Given the description of an element on the screen output the (x, y) to click on. 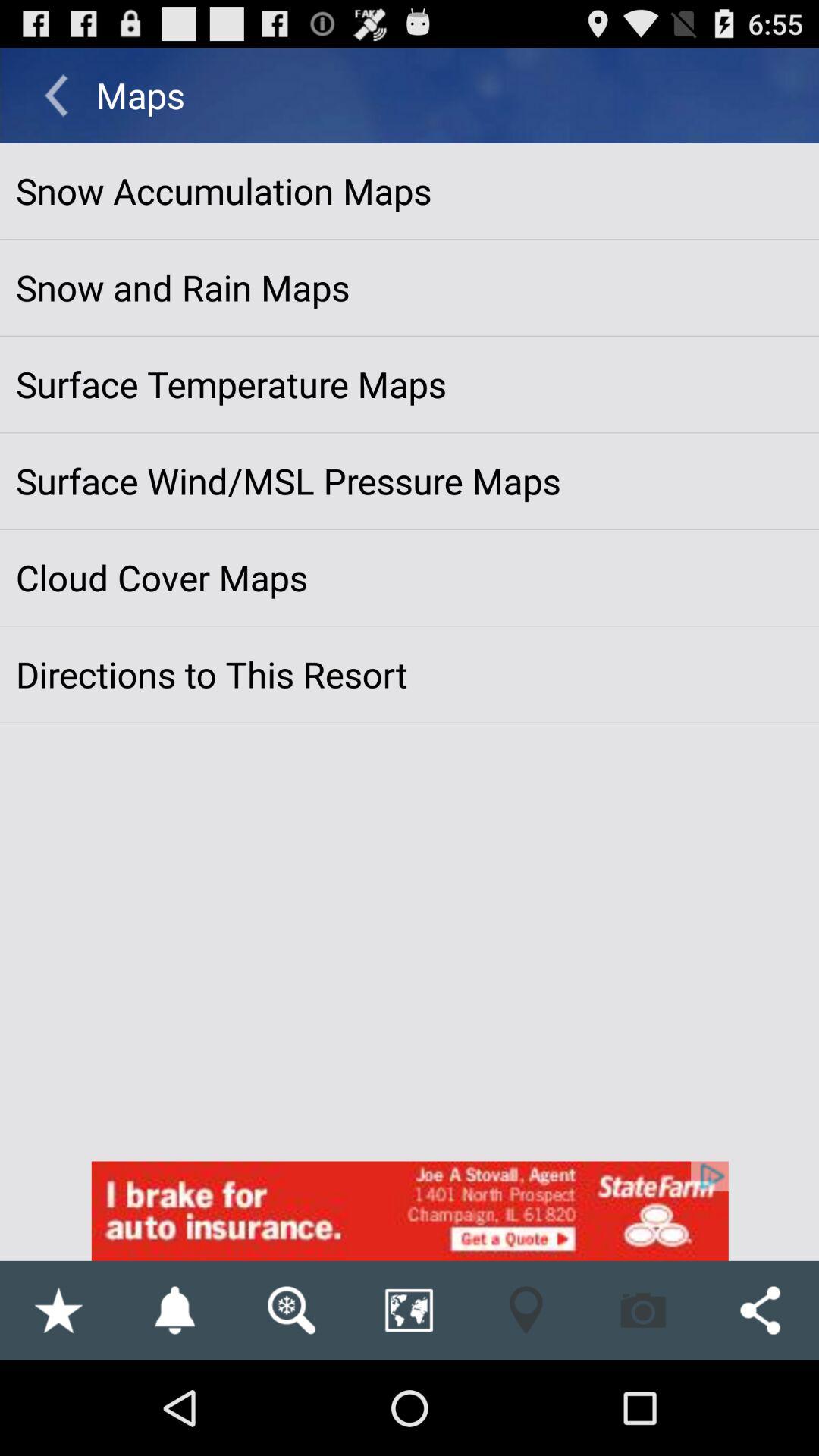
click the share button on the bottom right corner of the web page (760, 1310)
click on the arrow above the top left of the page (55, 95)
click the button on left to the location button on the web page (408, 1310)
click the button on the top left corner of the web page (56, 95)
